Given the description of an element on the screen output the (x, y) to click on. 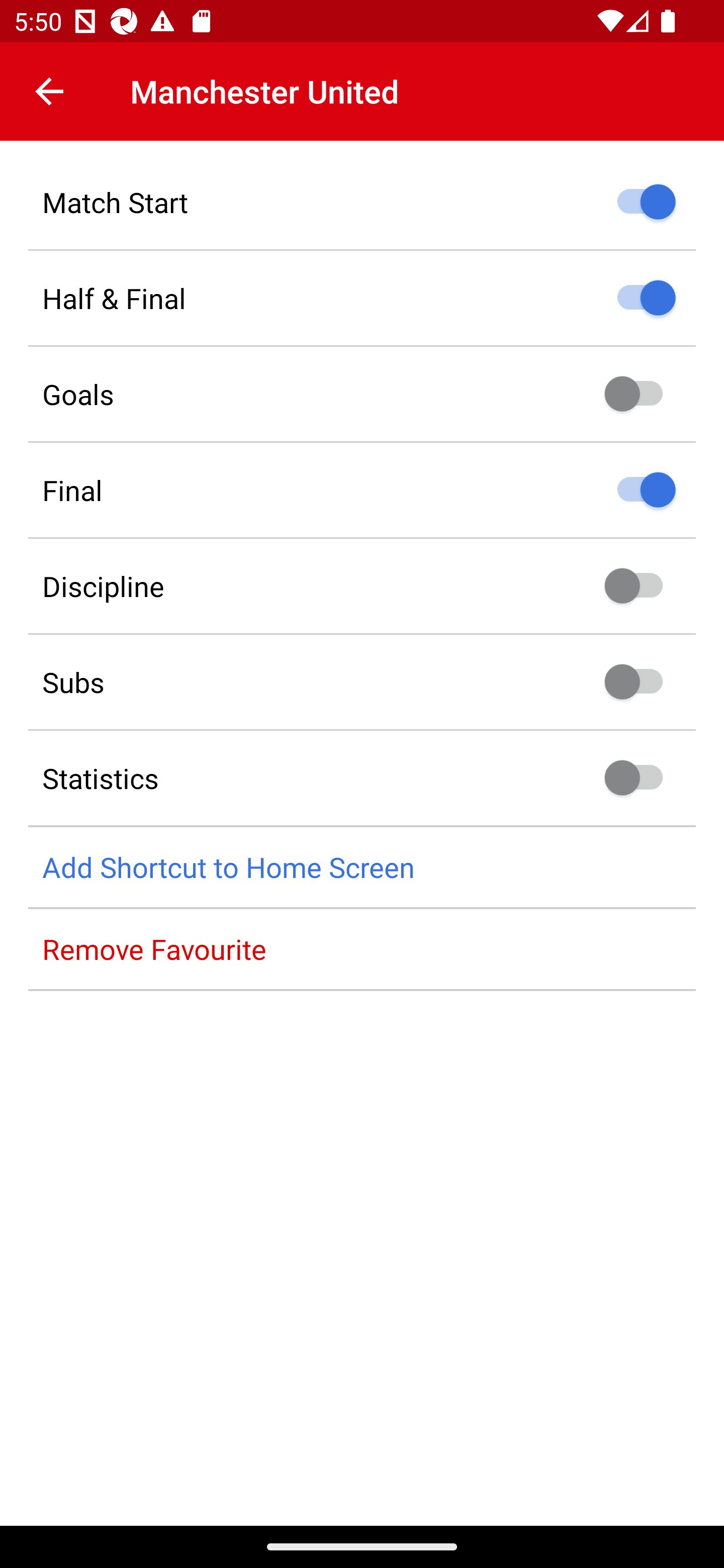
Navigate up (49, 91)
Add Shortcut to Home Screen (362, 867)
Remove Favourite (362, 948)
